Given the description of an element on the screen output the (x, y) to click on. 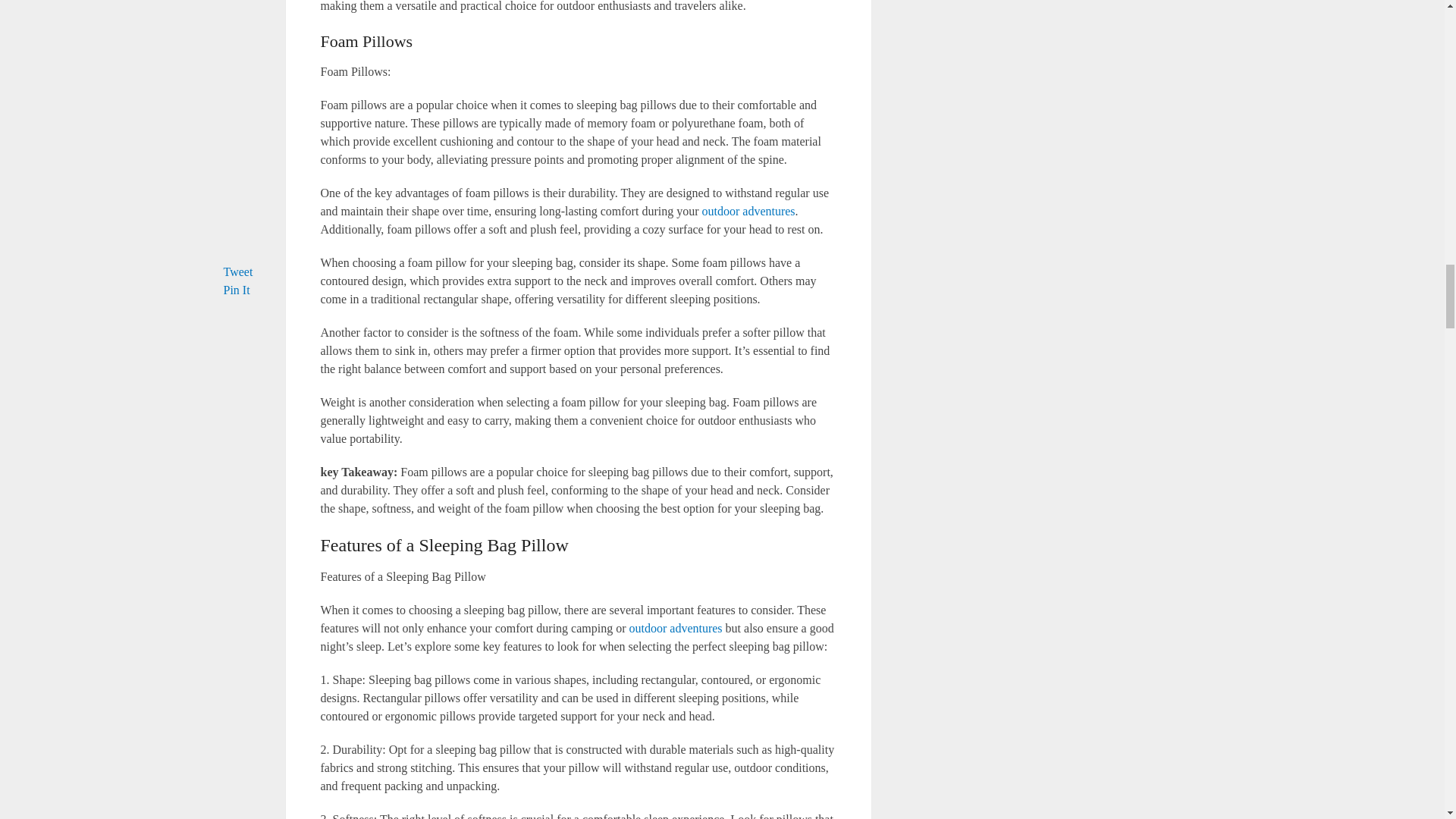
outdoor adventures (747, 210)
outdoor adventures (675, 627)
